Given the description of an element on the screen output the (x, y) to click on. 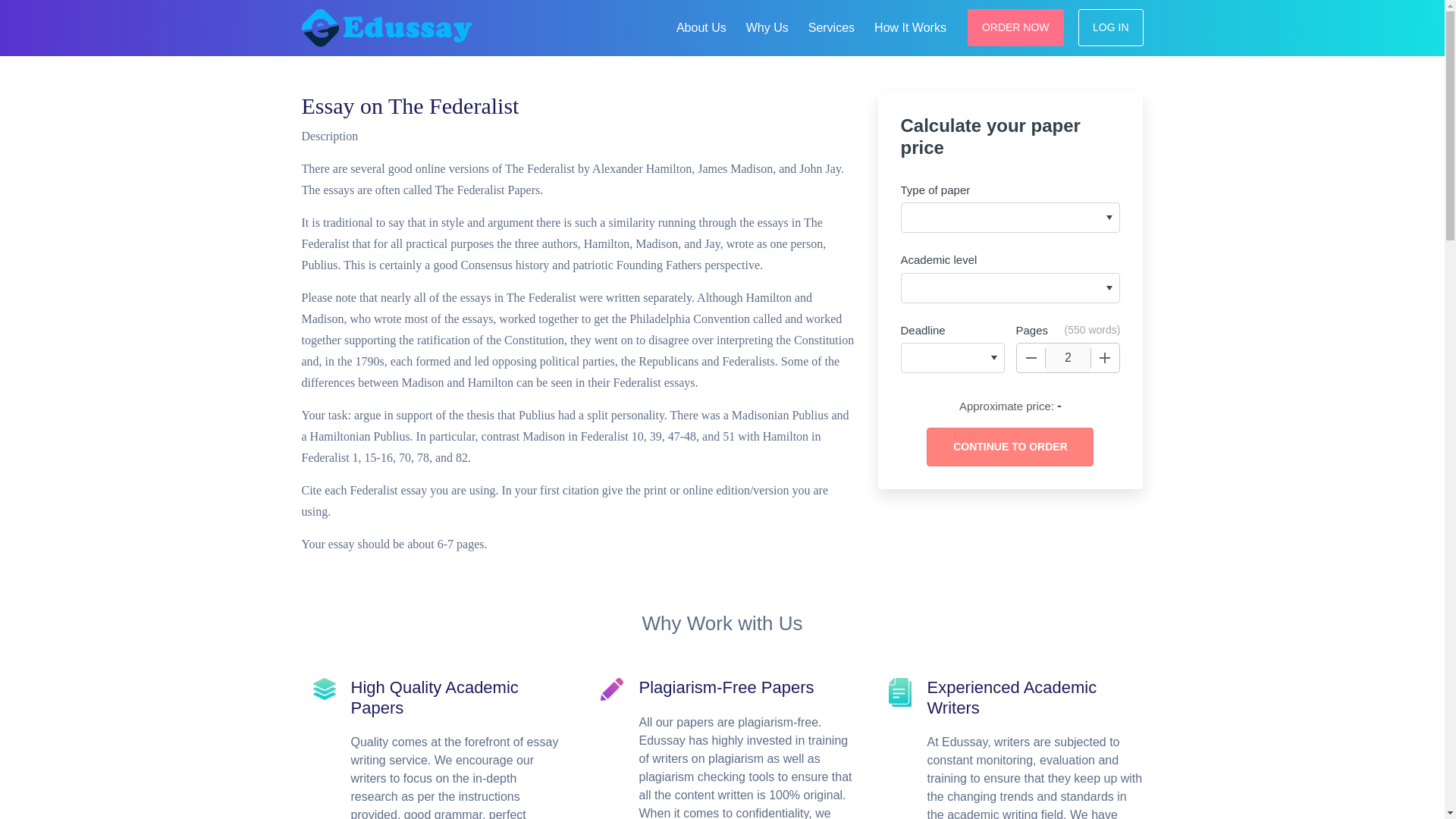
Continue to order (1009, 446)
Why Us (766, 26)
How It Works (909, 26)
Services (831, 26)
How It Works (909, 26)
Continue to order (1009, 446)
2 (1067, 357)
About Us (700, 26)
ORDER NOW (1016, 27)
About Us (700, 26)
Why Us (766, 26)
Decrease (1030, 357)
Increase (1104, 357)
LOG IN (1110, 27)
Services (831, 26)
